Given the description of an element on the screen output the (x, y) to click on. 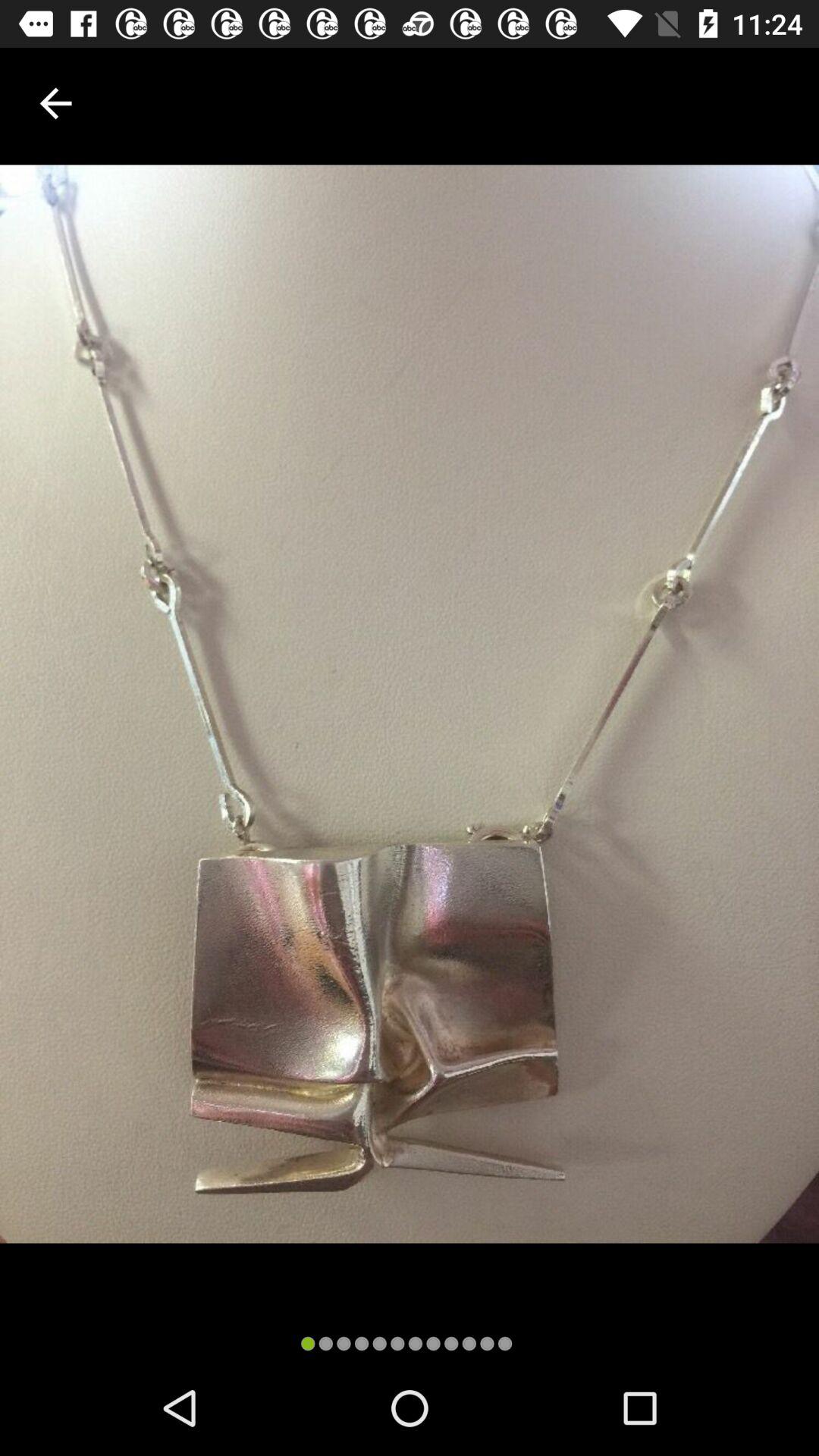
go back (55, 103)
